Given the description of an element on the screen output the (x, y) to click on. 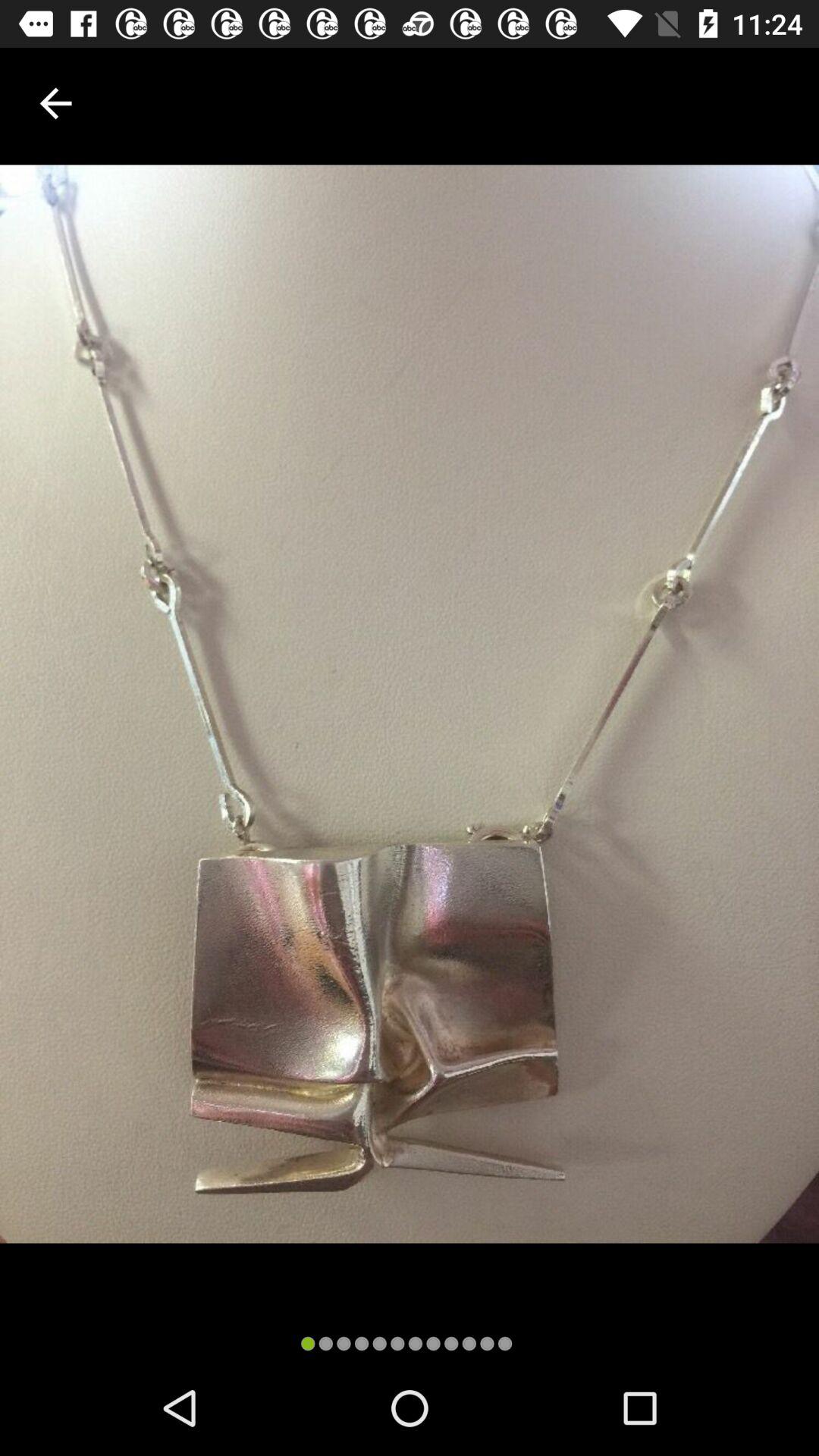
go back (55, 103)
